Given the description of an element on the screen output the (x, y) to click on. 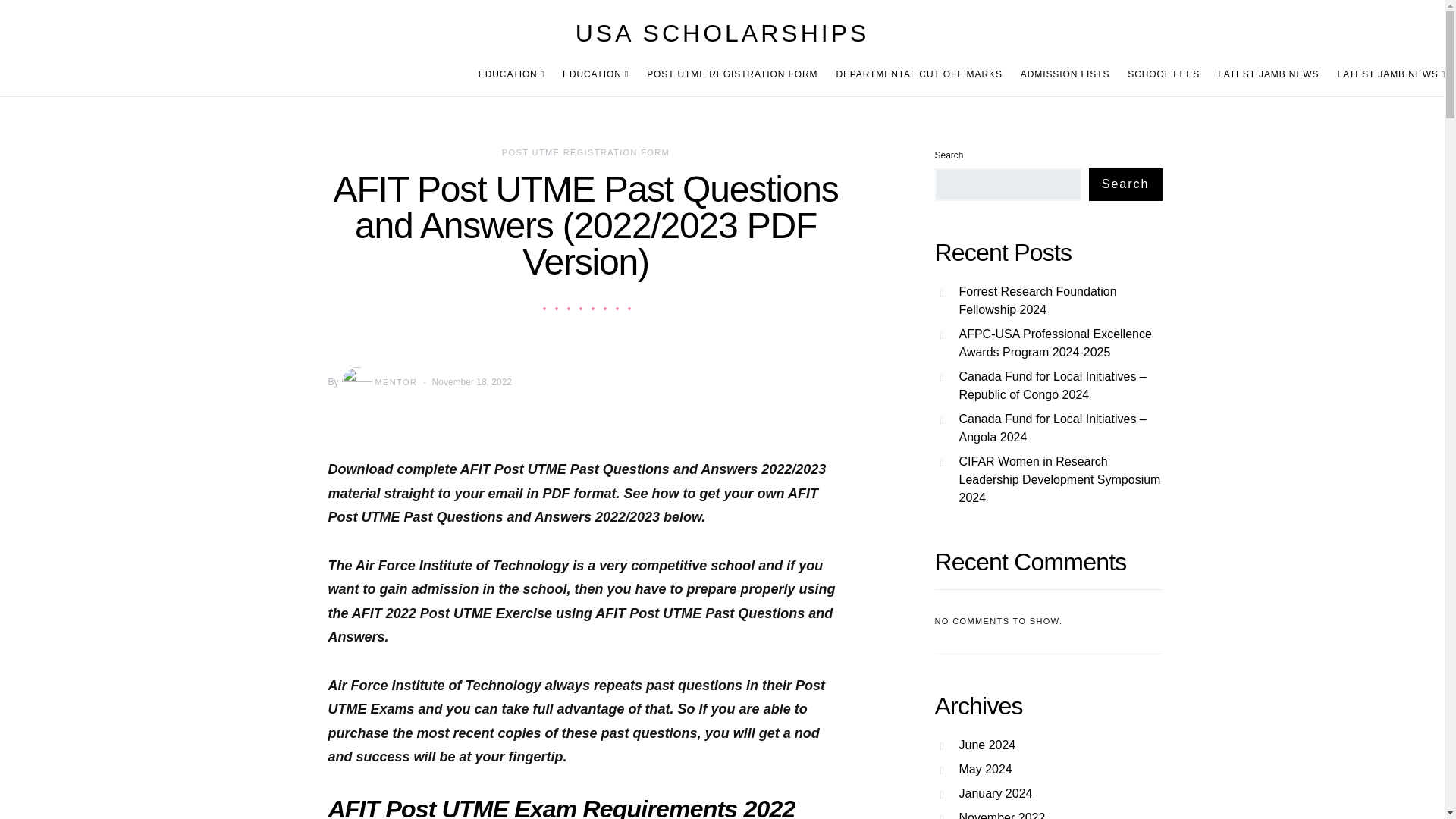
USA SCHOLARSHIPS (722, 33)
EDUCATION (516, 74)
View all posts by Mentor (378, 381)
